Given the description of an element on the screen output the (x, y) to click on. 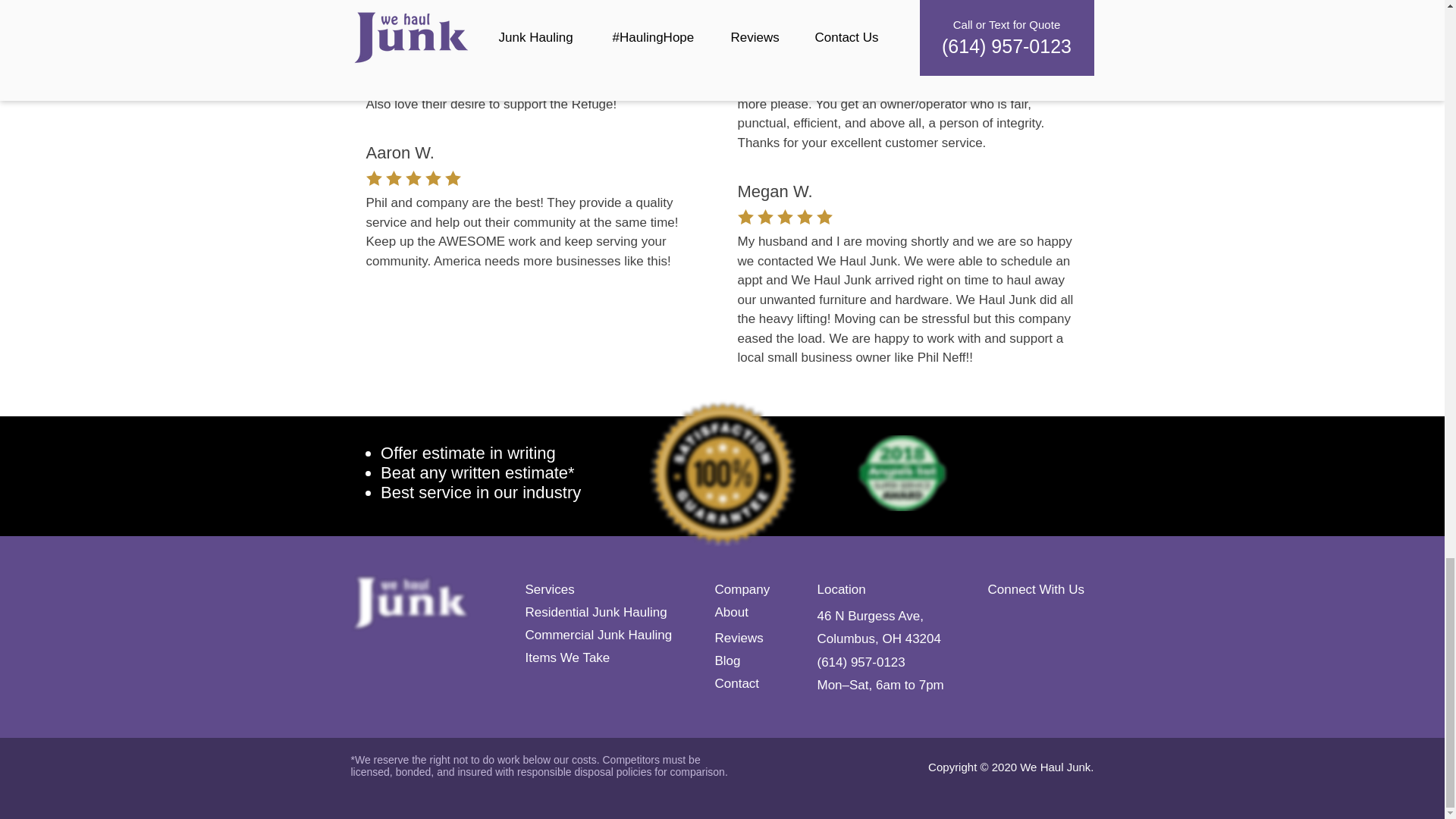
46 N Burgess Ave, Columbus, OH 43204 (878, 628)
Blog (726, 659)
Reviews (738, 636)
Contact (736, 682)
Commercial Junk Hauling (597, 634)
Items We Take (567, 657)
About (731, 611)
Residential Junk Hauling (595, 611)
